Given the description of an element on the screen output the (x, y) to click on. 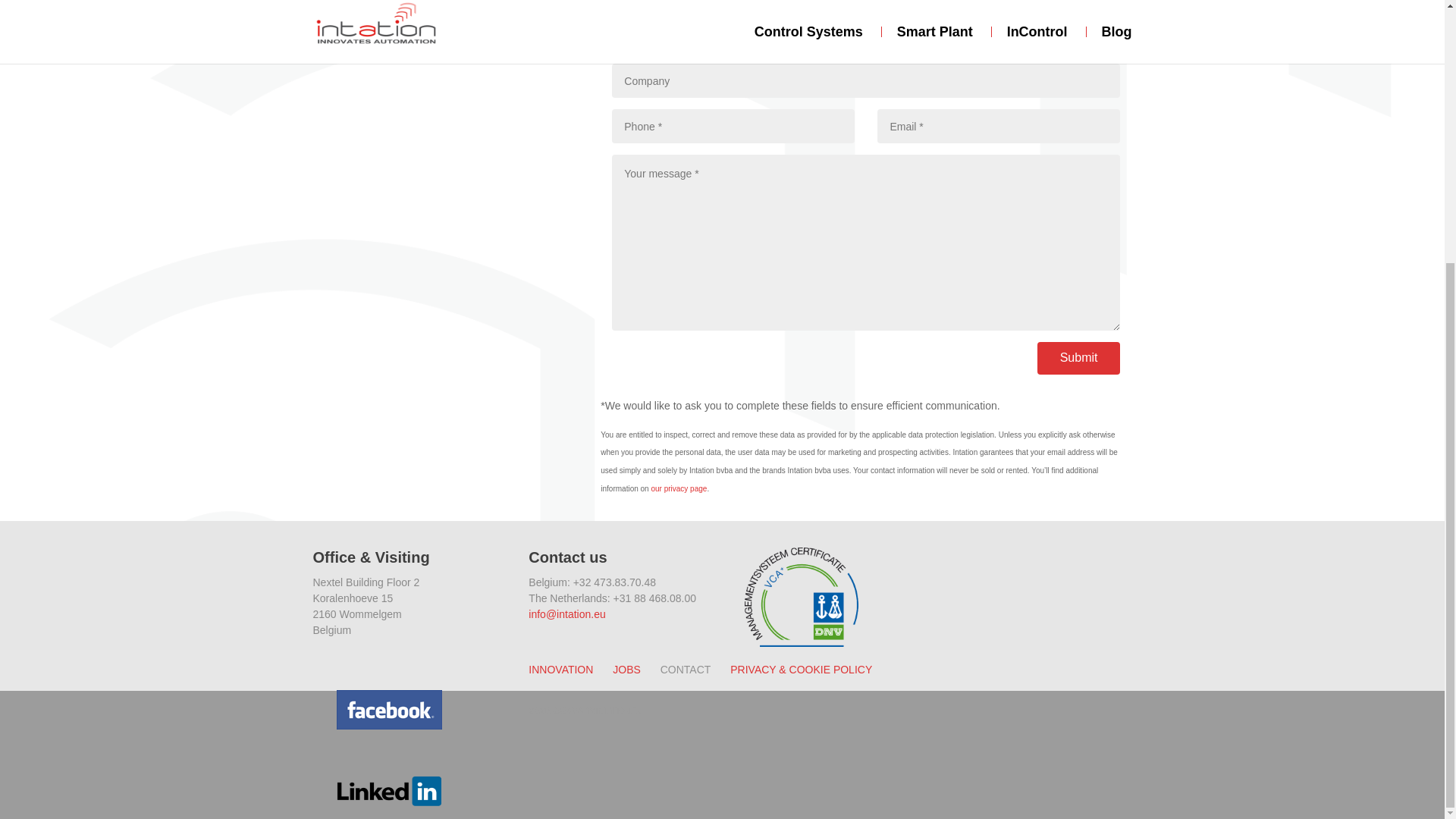
INNOVATION (560, 669)
CONTACT (686, 669)
JOBS (626, 669)
Submit (1078, 358)
our privacy page (678, 488)
